Given the description of an element on the screen output the (x, y) to click on. 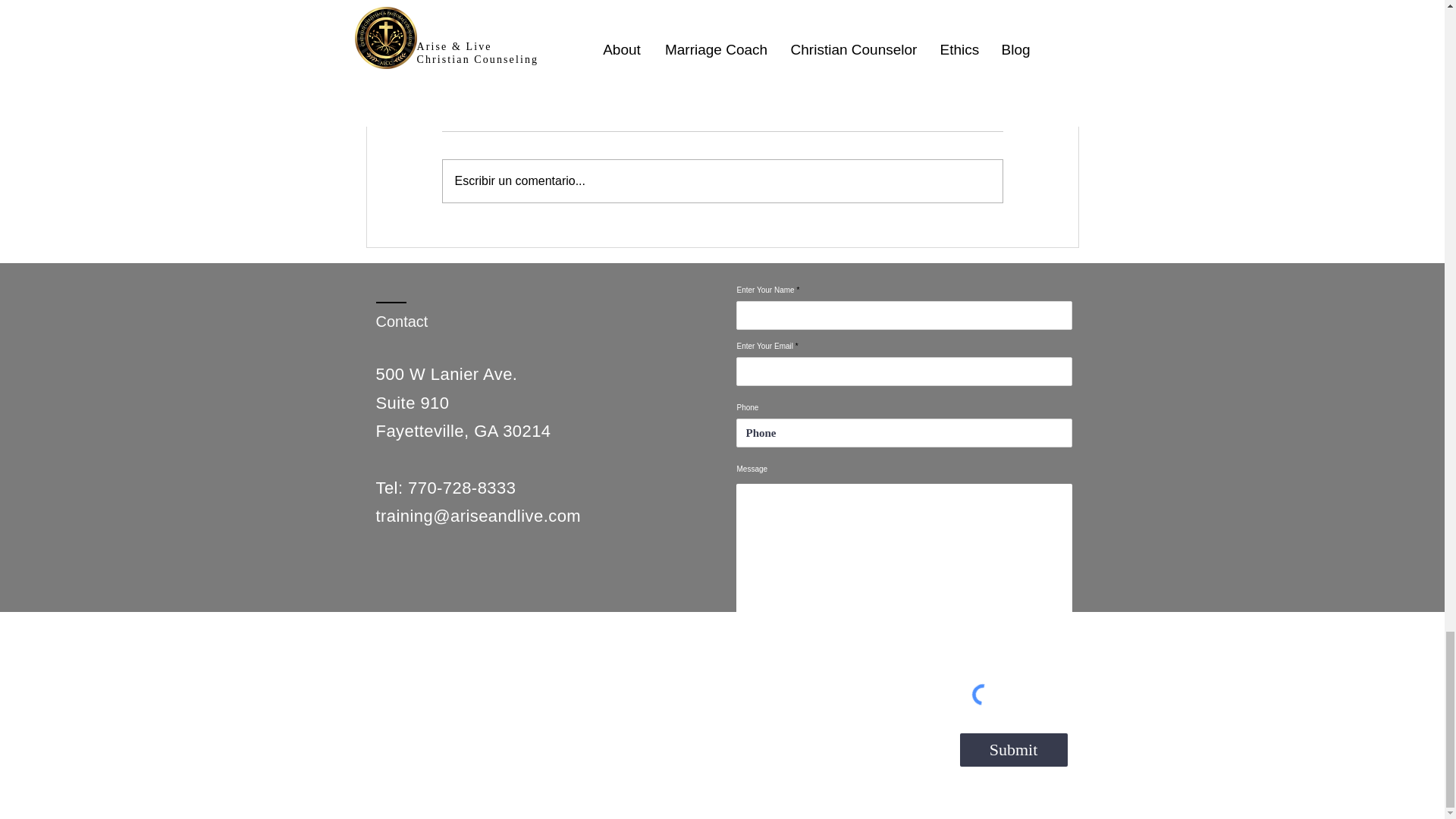
0 (926, 32)
Escribir un comentario... (722, 180)
Submit (1013, 749)
Post not marked as liked (558, 32)
0 (435, 32)
Post not marked as liked (804, 32)
Post not marked as liked (1050, 32)
0 (681, 32)
